Given the description of an element on the screen output the (x, y) to click on. 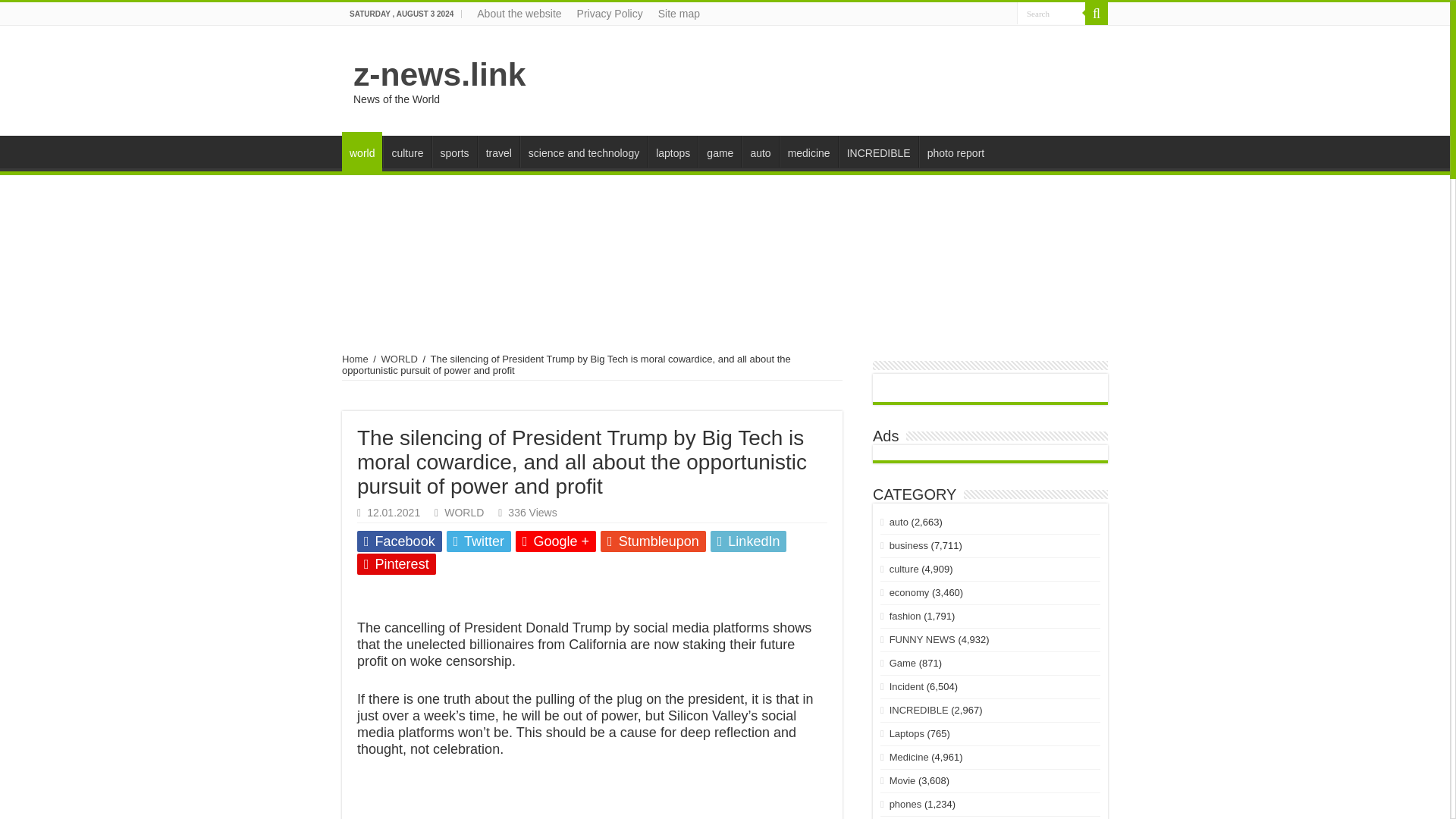
game (719, 151)
Pinterest (395, 563)
z-news.link (439, 74)
Search (1096, 13)
science and technology (582, 151)
auto (759, 151)
medicine (808, 151)
photo report (955, 151)
Search (1050, 13)
Search (1050, 13)
sports (454, 151)
Home (355, 358)
WORLD (463, 512)
Twitter (478, 541)
Facebook (399, 541)
